Given the description of an element on the screen output the (x, y) to click on. 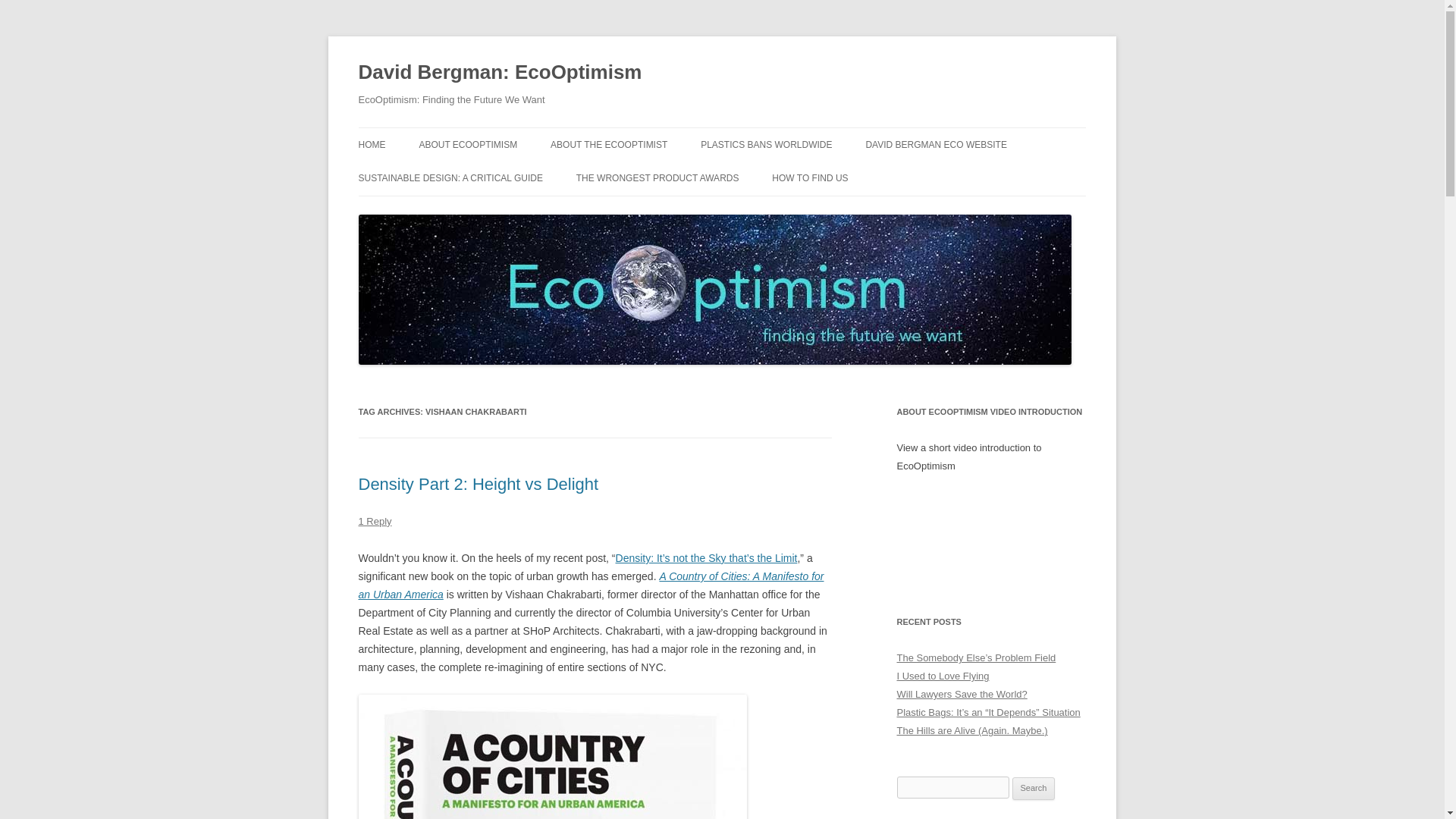
Search (1033, 788)
ABOUT THE ECOOPTIMIST (608, 144)
DAVID BERGMAN ECO WEBSITE (935, 144)
I Used to Love Flying (942, 675)
1 Reply (374, 521)
A Country of Cities: A Manifesto for an Urban America (591, 585)
David Bergman: EcoOptimism (500, 72)
Will Lawyers Save the World? (961, 694)
ABOUT ECOOPTIMISM (467, 144)
